Given the description of an element on the screen output the (x, y) to click on. 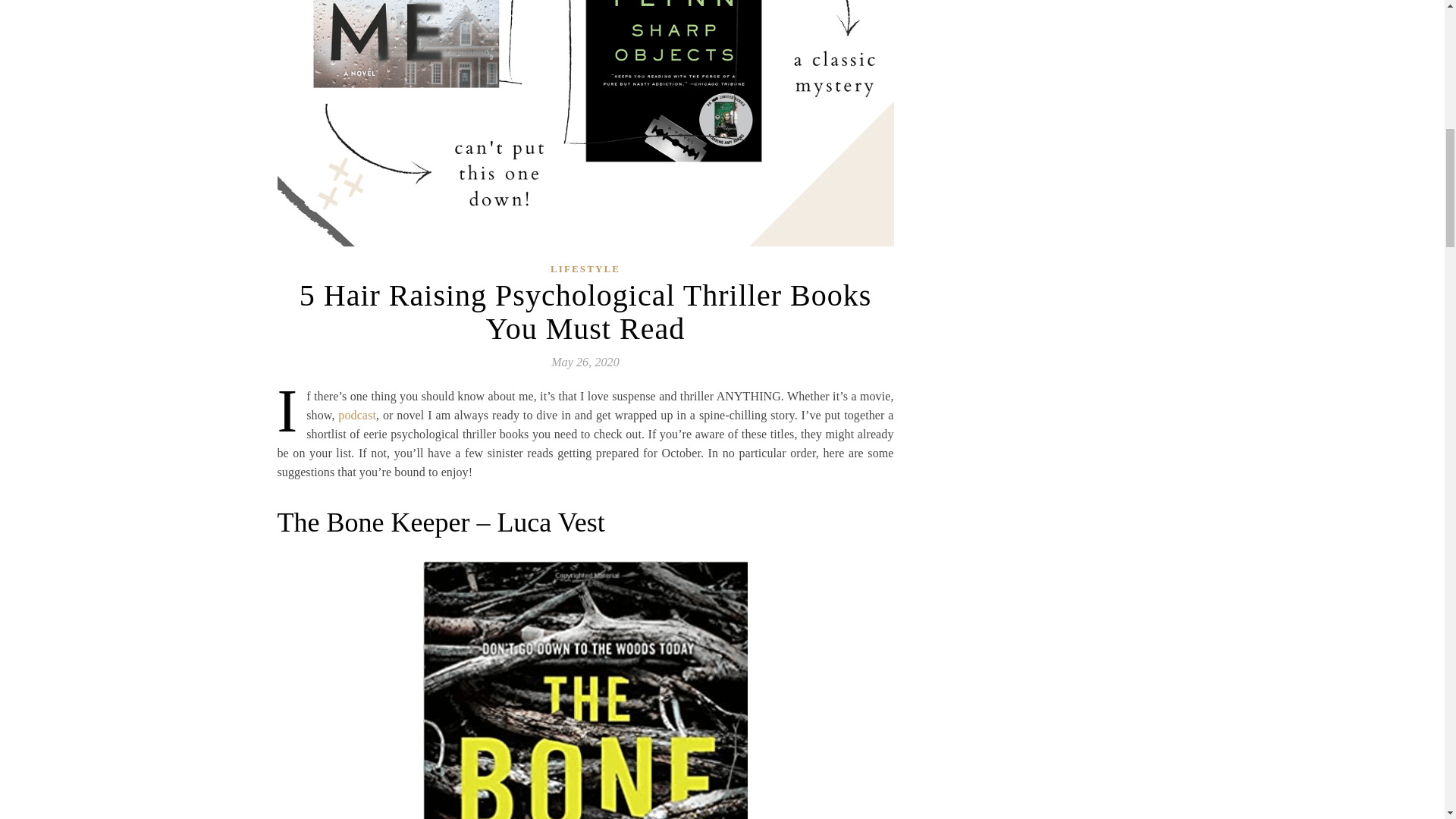
LIFESTYLE (585, 268)
podcast (356, 413)
